Given the description of an element on the screen output the (x, y) to click on. 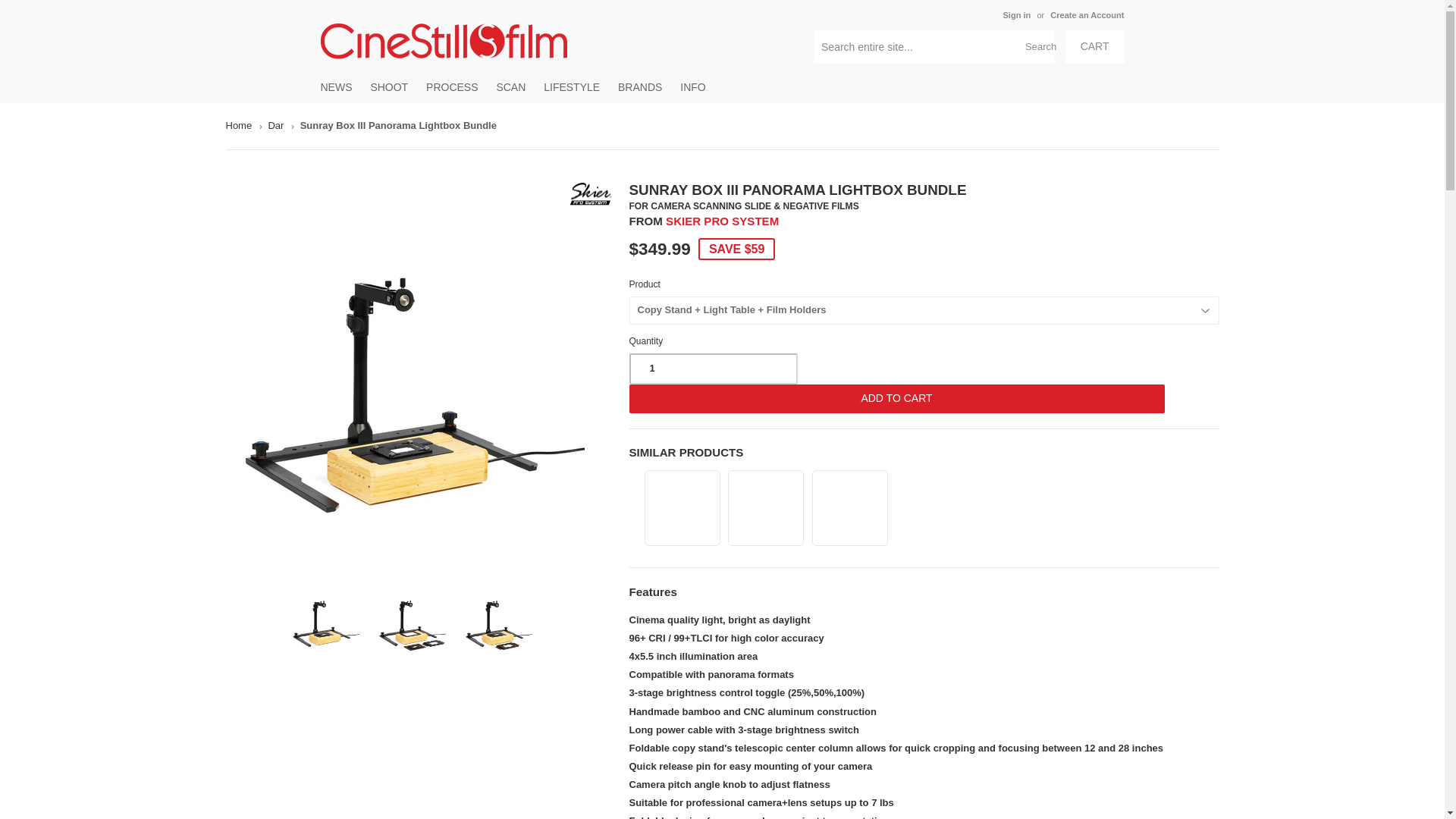
CART (1094, 46)
Sign in (1016, 14)
PROCESS (451, 87)
1 (712, 368)
Search (1037, 47)
SCAN (509, 87)
